Given the description of an element on the screen output the (x, y) to click on. 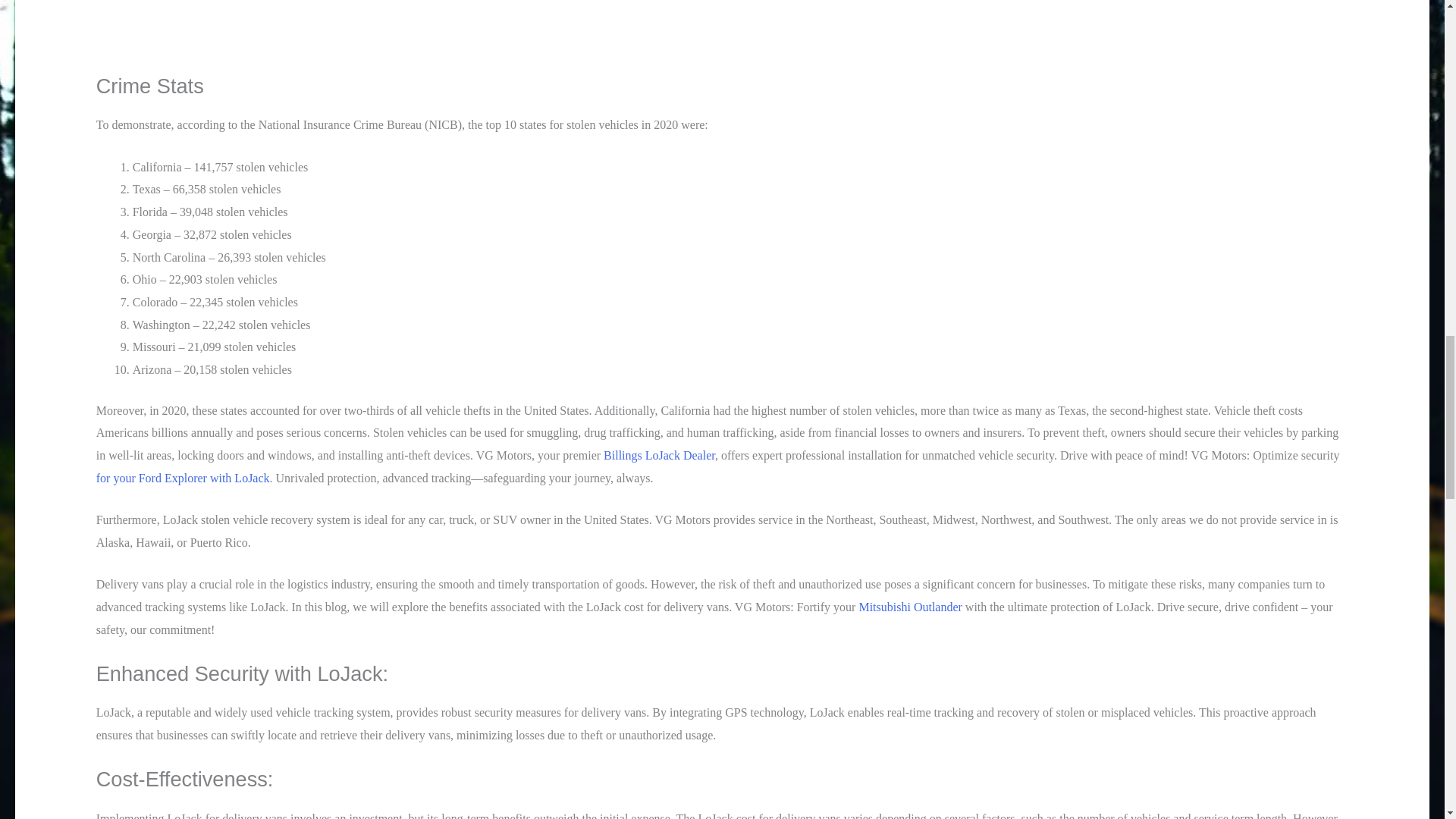
for your Ford Explorer with LoJack (182, 477)
How LoJack Works and How To Buy Online (625, 36)
Billings LoJack Dealer (659, 454)
Mitsubishi Outlander (909, 606)
